Given the description of an element on the screen output the (x, y) to click on. 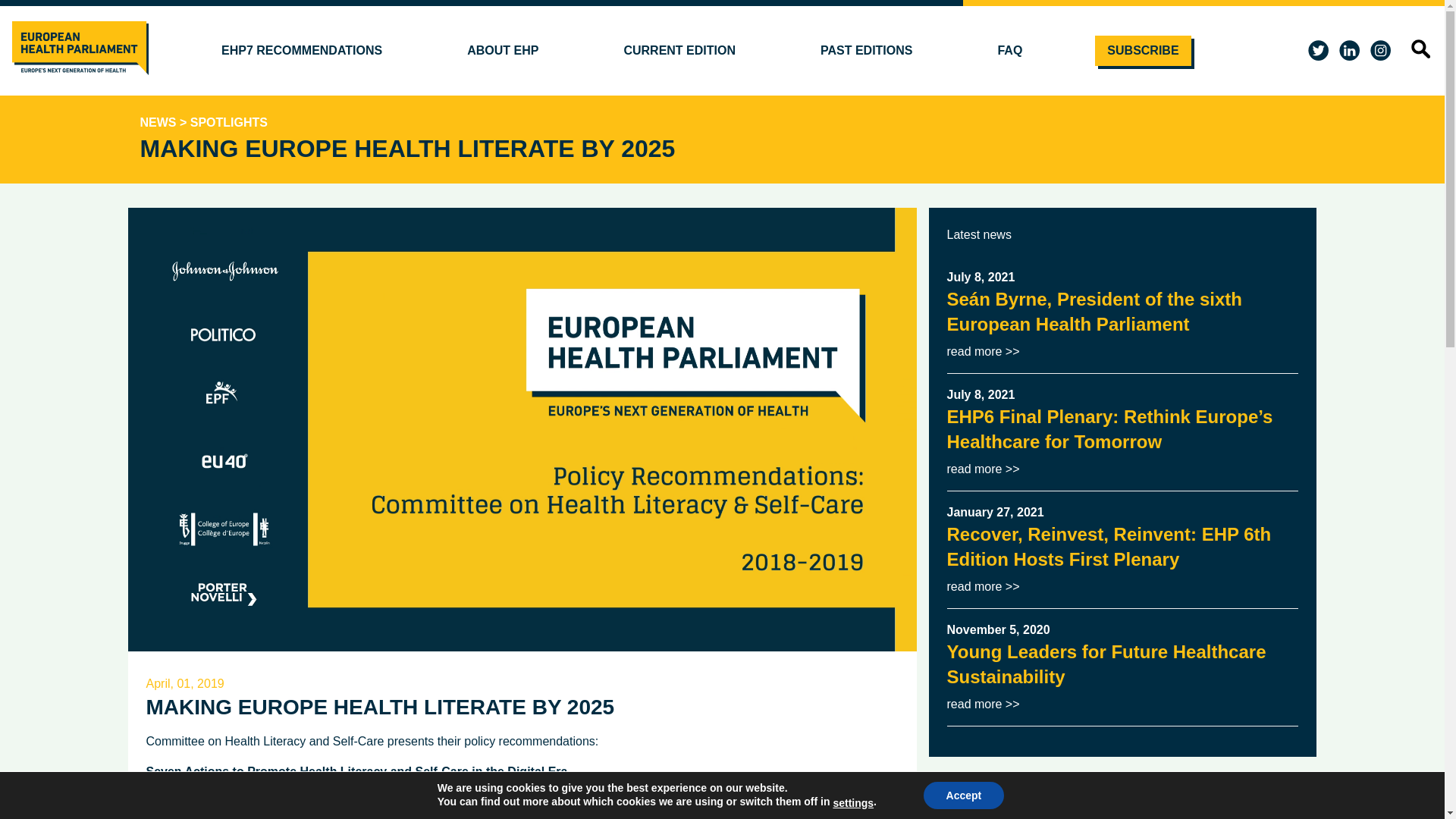
Accept (963, 795)
PAST EDITIONS (866, 51)
FAQ (1009, 51)
EHP7 RECOMMENDATIONS (301, 51)
ABOUT EHP (502, 51)
Search (1400, 84)
SUBSCRIBE (1142, 51)
settings (852, 802)
CURRENT EDITION (679, 51)
